Given the description of an element on the screen output the (x, y) to click on. 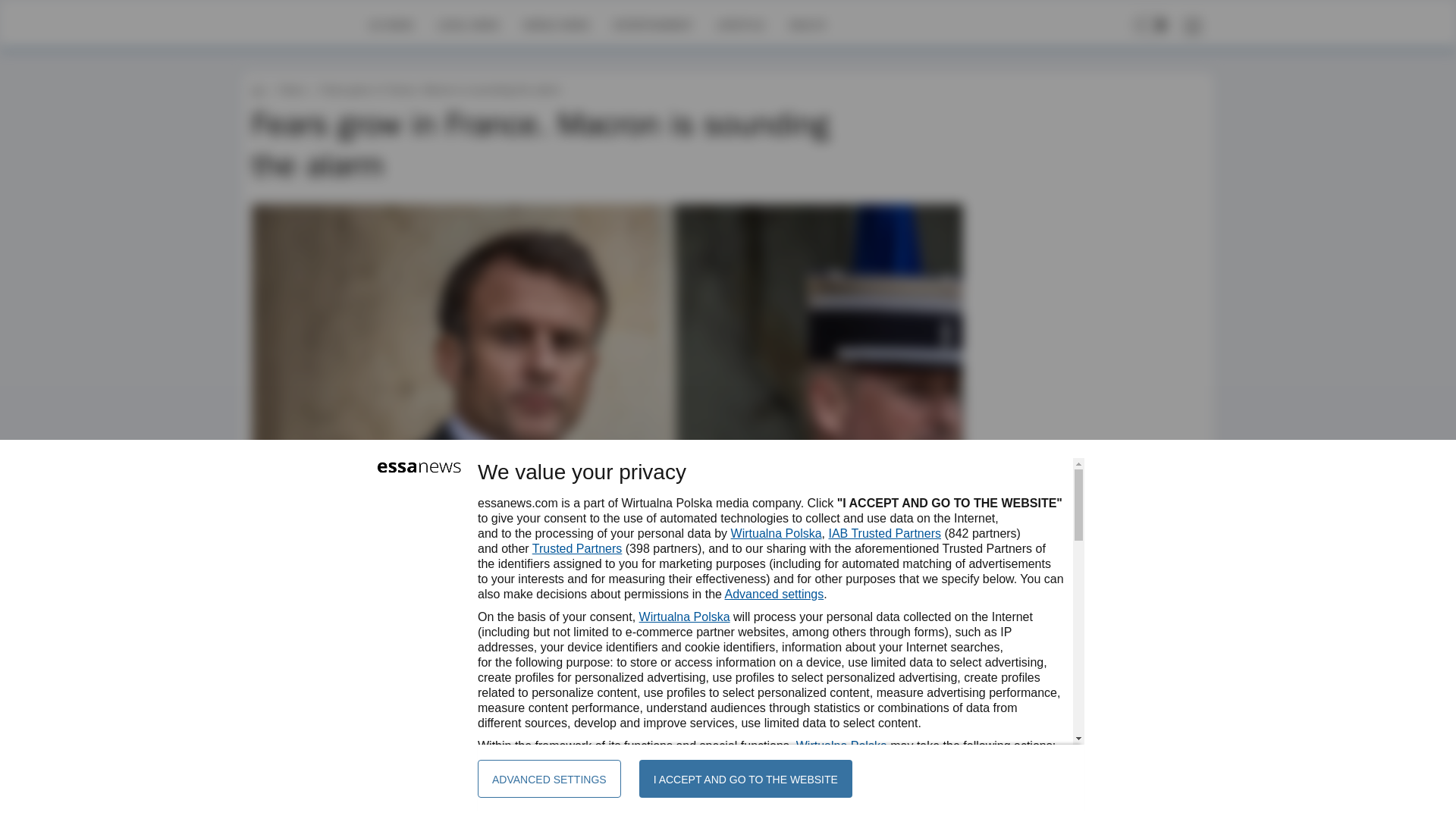
RAM (320, 641)
essanews.com (257, 89)
News (291, 89)
LIFESTYLE (740, 24)
Homepage (305, 24)
US NEWS (390, 24)
News (291, 89)
HEALTH (807, 24)
SHARE (936, 649)
LOCAL NEWS (468, 24)
RAM (320, 641)
ENTERTAINMENT (652, 24)
WORLD NEWS (555, 24)
